Given the description of an element on the screen output the (x, y) to click on. 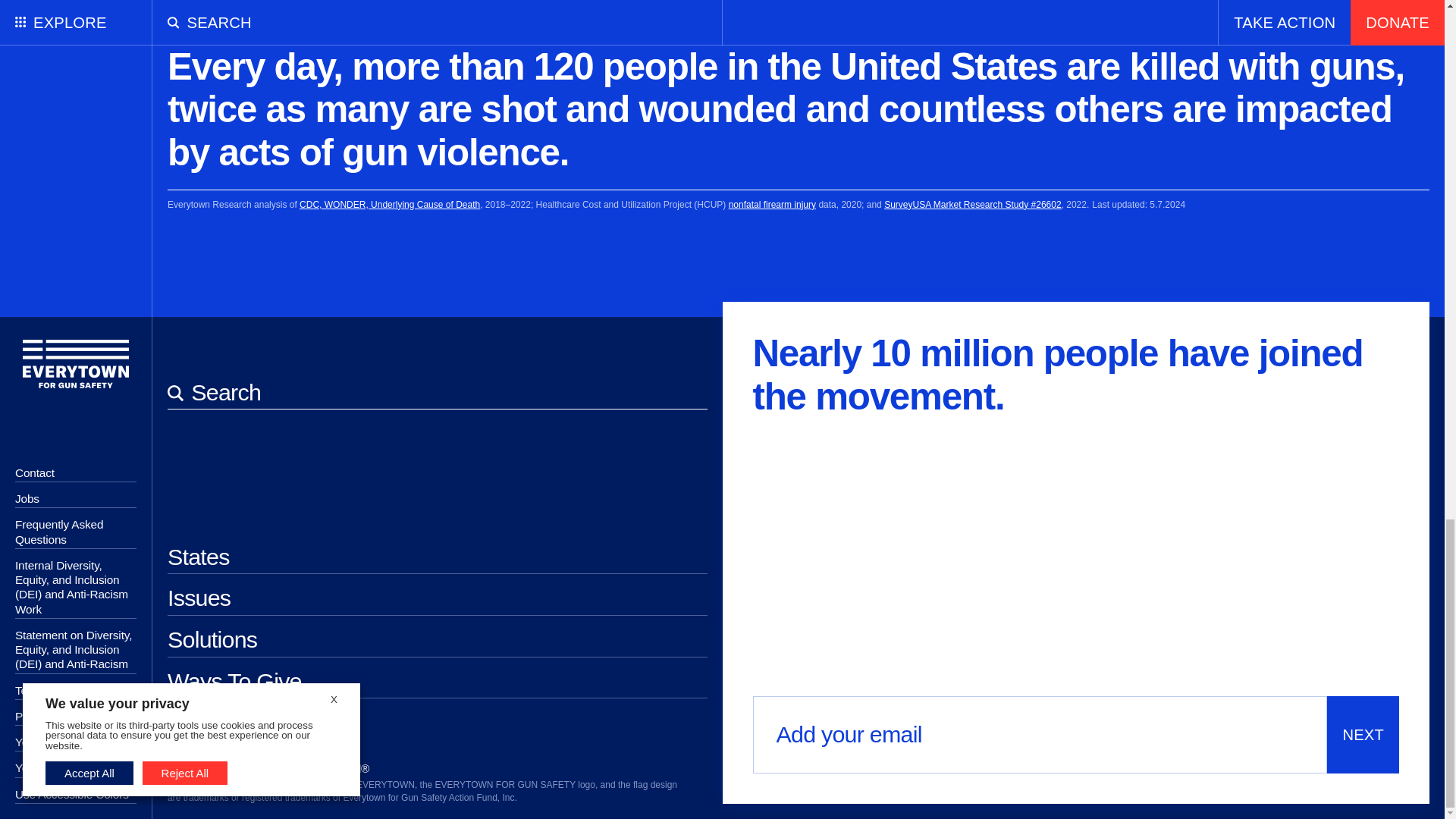
Next (1362, 734)
